Given the description of an element on the screen output the (x, y) to click on. 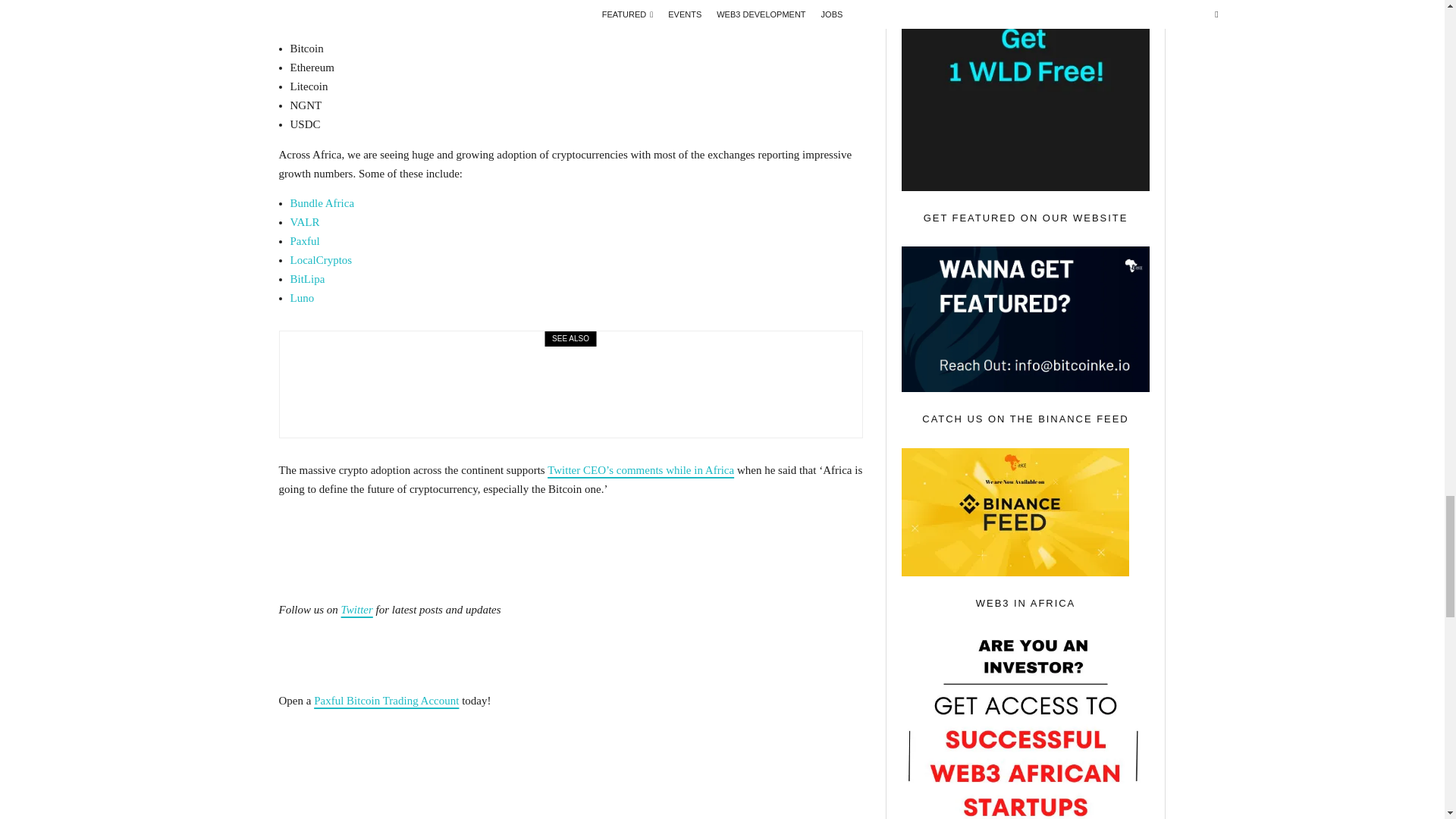
PARTICIPATE AND WIN! (1025, 95)
Web3 in Africa (1025, 725)
GET FEATURED ON OUR WEBSITE (1025, 319)
